Given the description of an element on the screen output the (x, y) to click on. 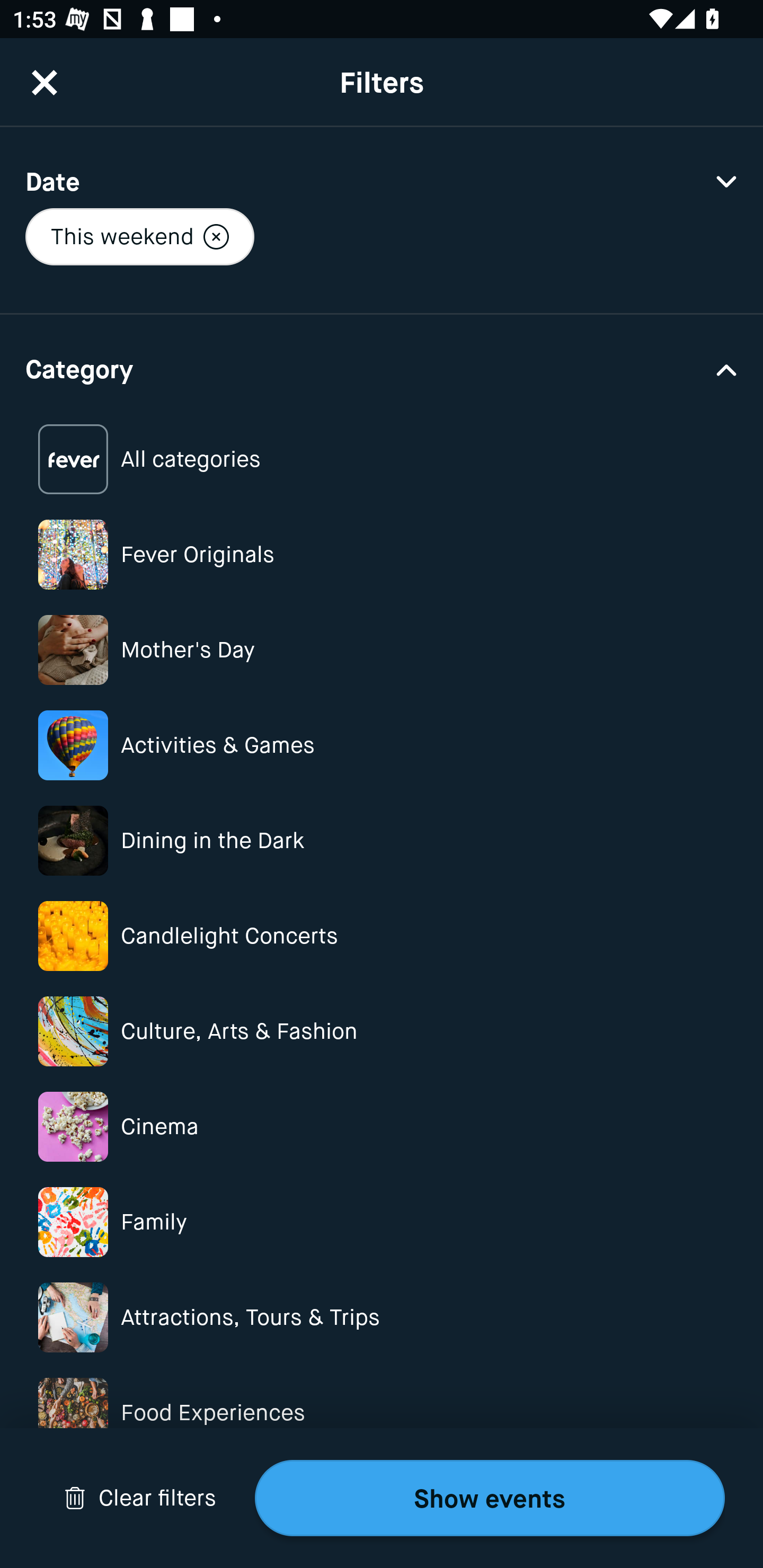
CloseButton (44, 82)
This weekend Localized description (139, 236)
Category Drop Down Arrow (381, 368)
Category Image All categories (381, 459)
Category Image Fever Originals (381, 553)
Category Image Mother's Day (381, 649)
Category Image Activities & Games (381, 745)
Category Image Dining in the Dark (381, 840)
Category Image Candlelight Concerts (381, 935)
Category Image Culture, Arts & Fashion (381, 1030)
Category Image Cinema (381, 1126)
Category Image Family (381, 1221)
Category Image Attractions, Tours & Trips (381, 1317)
Category Image Food Experiences (381, 1412)
Drop Down Arrow Clear filters (139, 1497)
Show events (489, 1497)
